Given the description of an element on the screen output the (x, y) to click on. 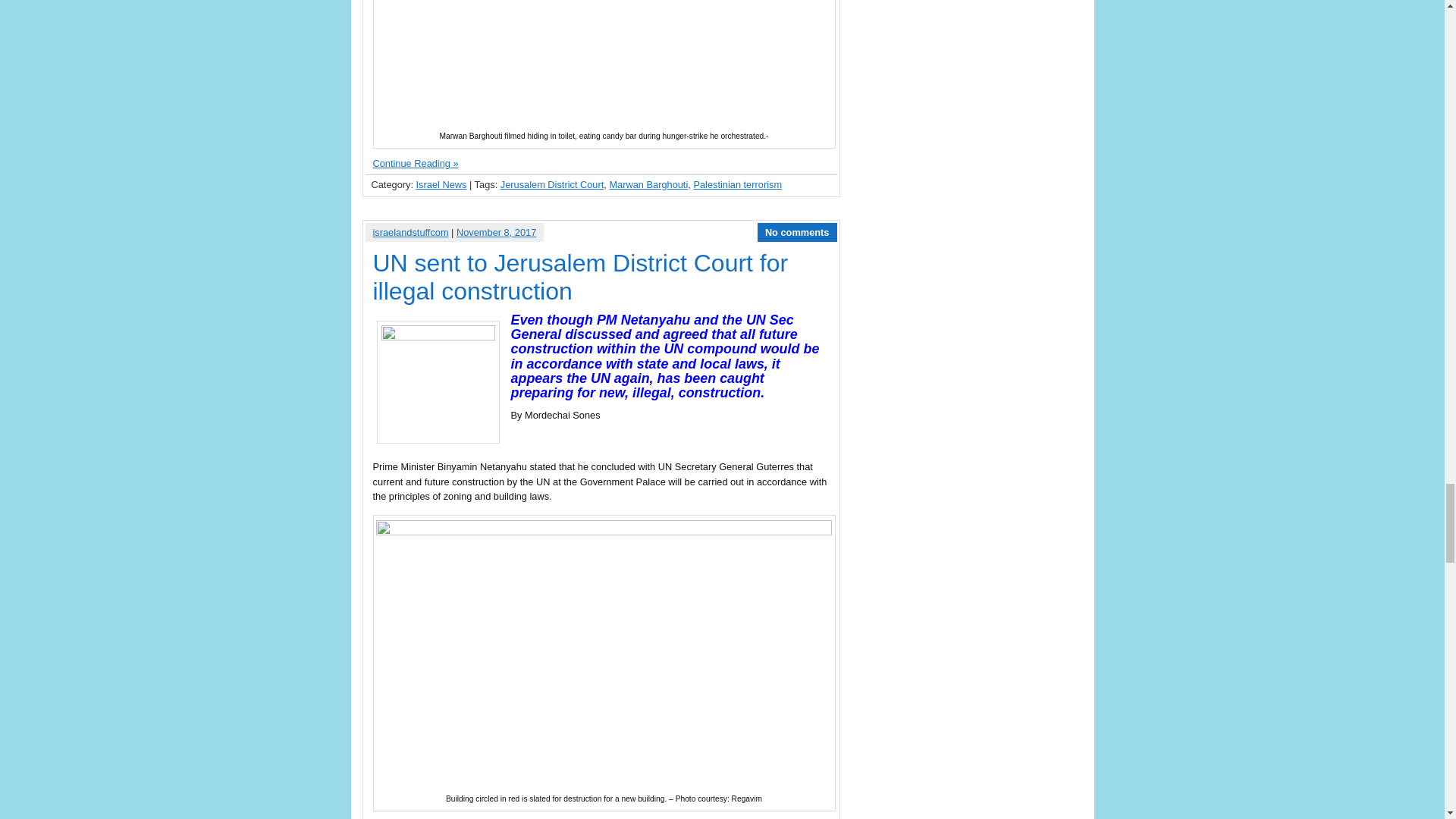
Posts by israelandstuffcom (410, 232)
